Given the description of an element on the screen output the (x, y) to click on. 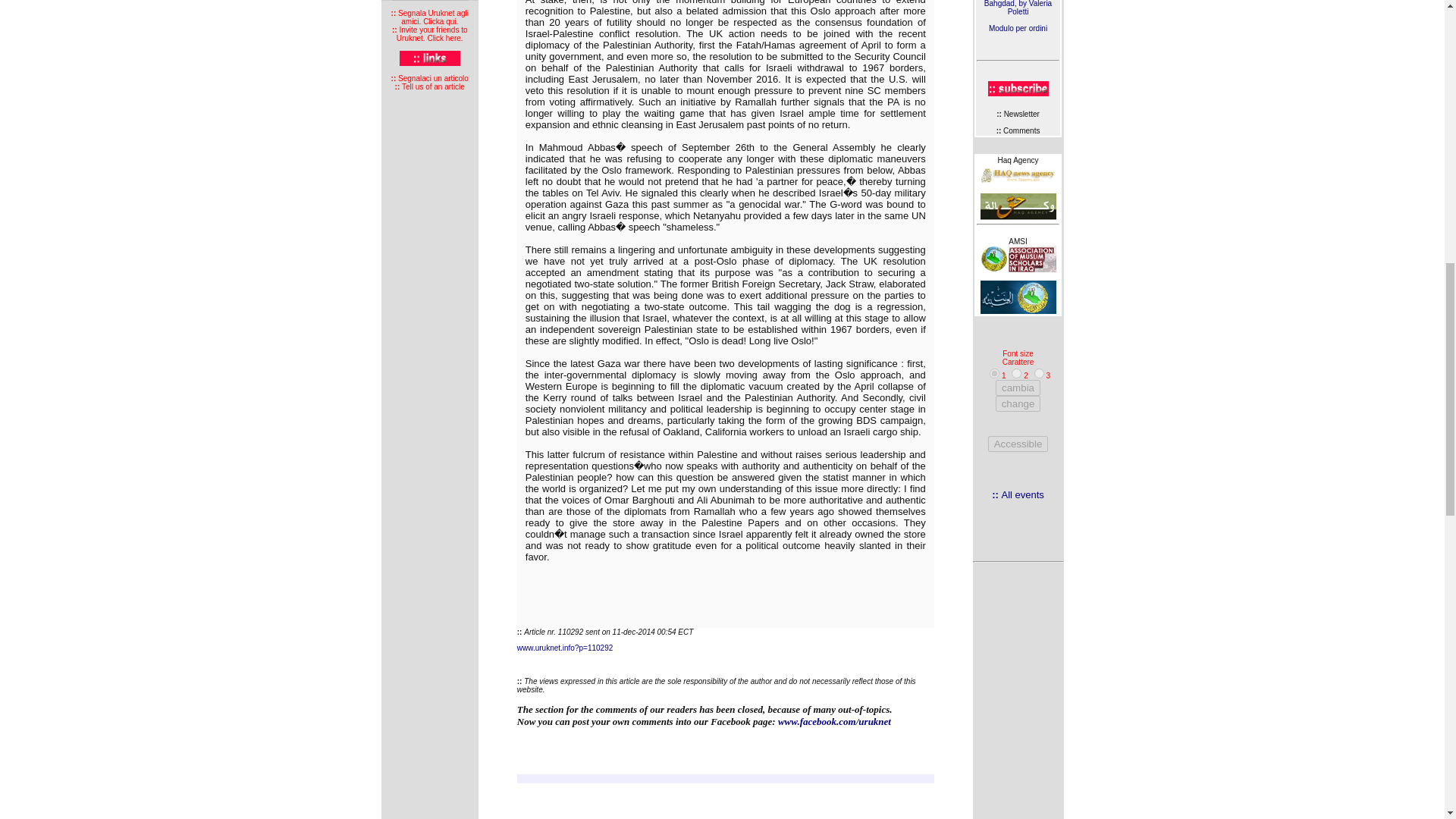
Modulo per ordini (1017, 28)
2 (1016, 373)
change (1018, 403)
Accessible (1018, 443)
:: Newsletter (1017, 113)
:: Comments (429, 82)
cambia (1018, 130)
1 (1018, 387)
3 (994, 373)
